Given the description of an element on the screen output the (x, y) to click on. 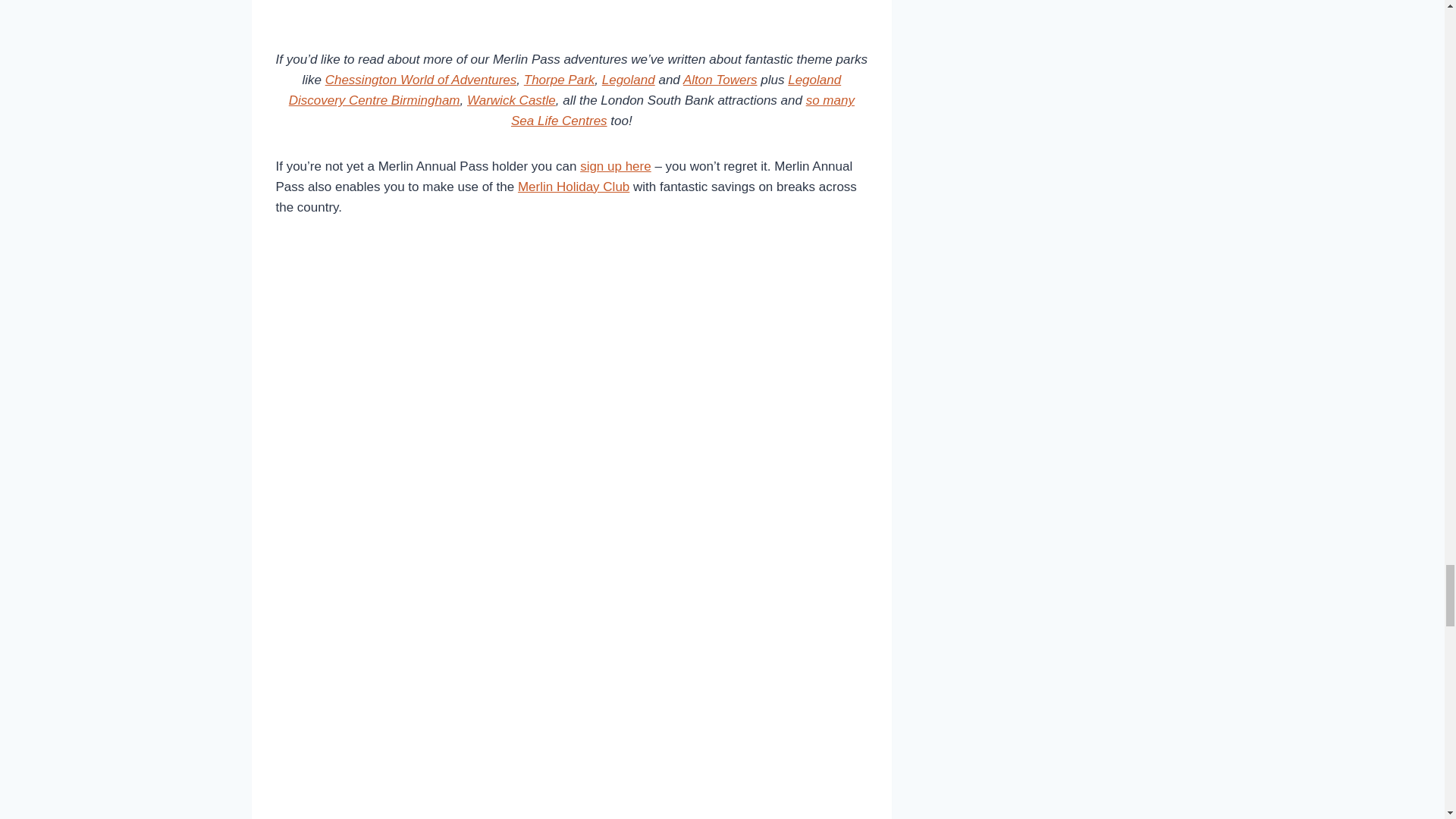
Merlin Holiday Club (573, 186)
so many Sea Life Centres (682, 110)
Thorpe Park (559, 79)
Warwick Castle (511, 100)
Legoland (628, 79)
Chessington World of Adventures (420, 79)
Alton Towers (719, 79)
sign up here (614, 165)
Legoland Discovery Centre Birmingham (564, 89)
